Given the description of an element on the screen output the (x, y) to click on. 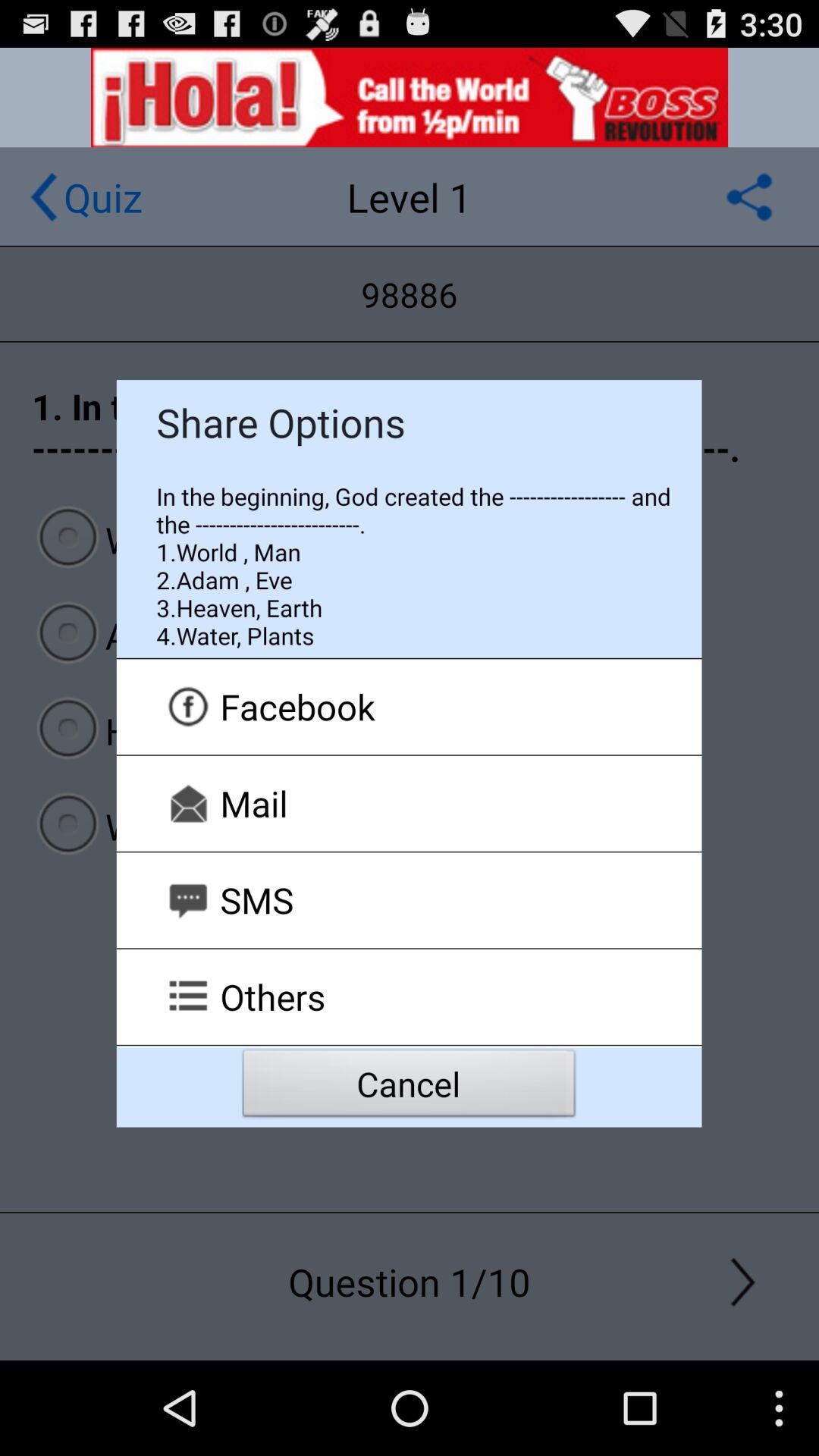
share the content (749, 196)
